Given the description of an element on the screen output the (x, y) to click on. 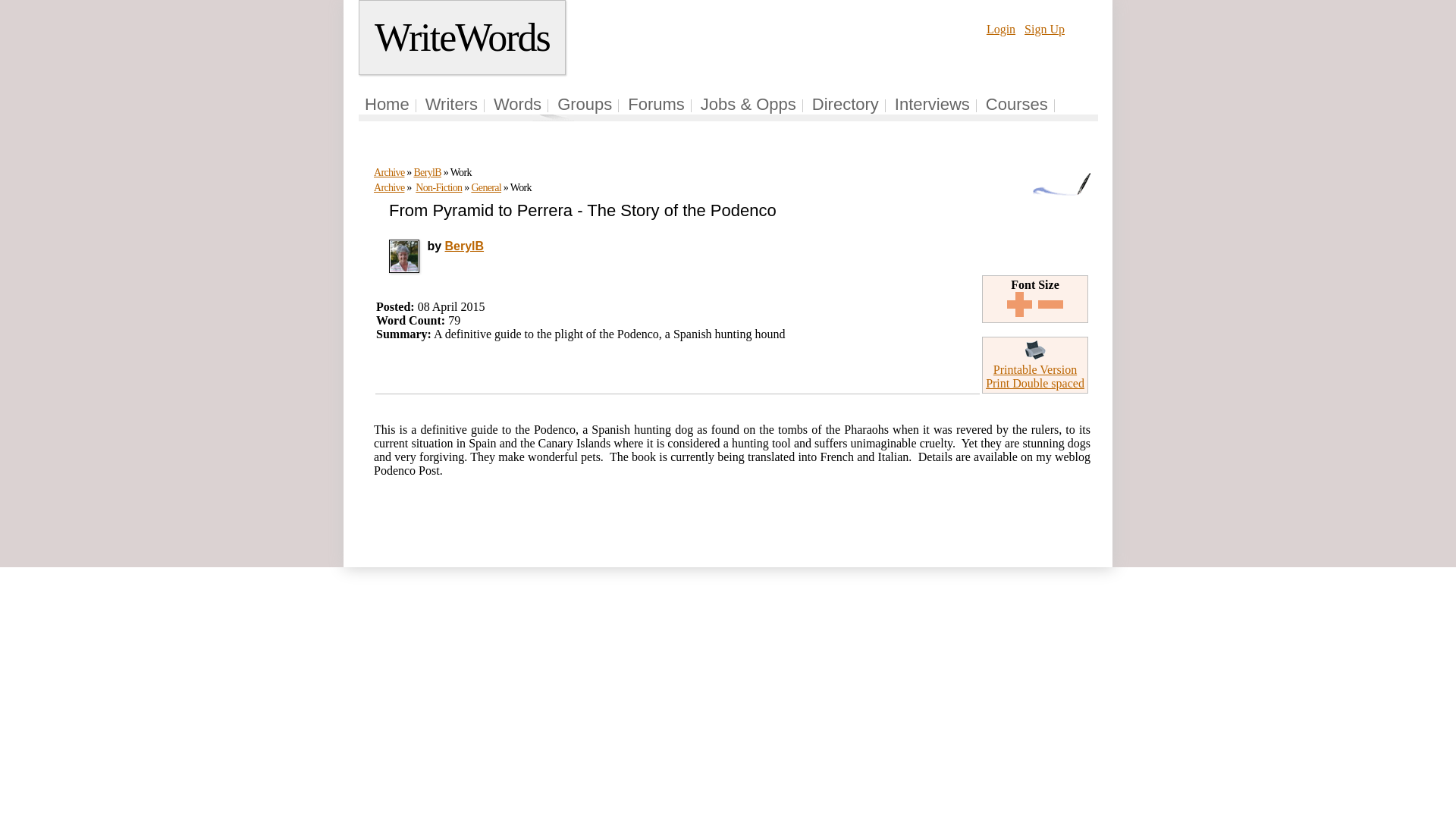
General (485, 187)
Groups (584, 104)
Sign Up (1044, 29)
Home (387, 104)
Forums (655, 104)
Interviews (932, 104)
WriteWords (462, 37)
Archive (389, 172)
BerylB (464, 245)
BerylB (427, 172)
Writers (451, 104)
Words (517, 104)
Archive (389, 187)
Courses (1016, 104)
Non-Fiction (437, 187)
